Given the description of an element on the screen output the (x, y) to click on. 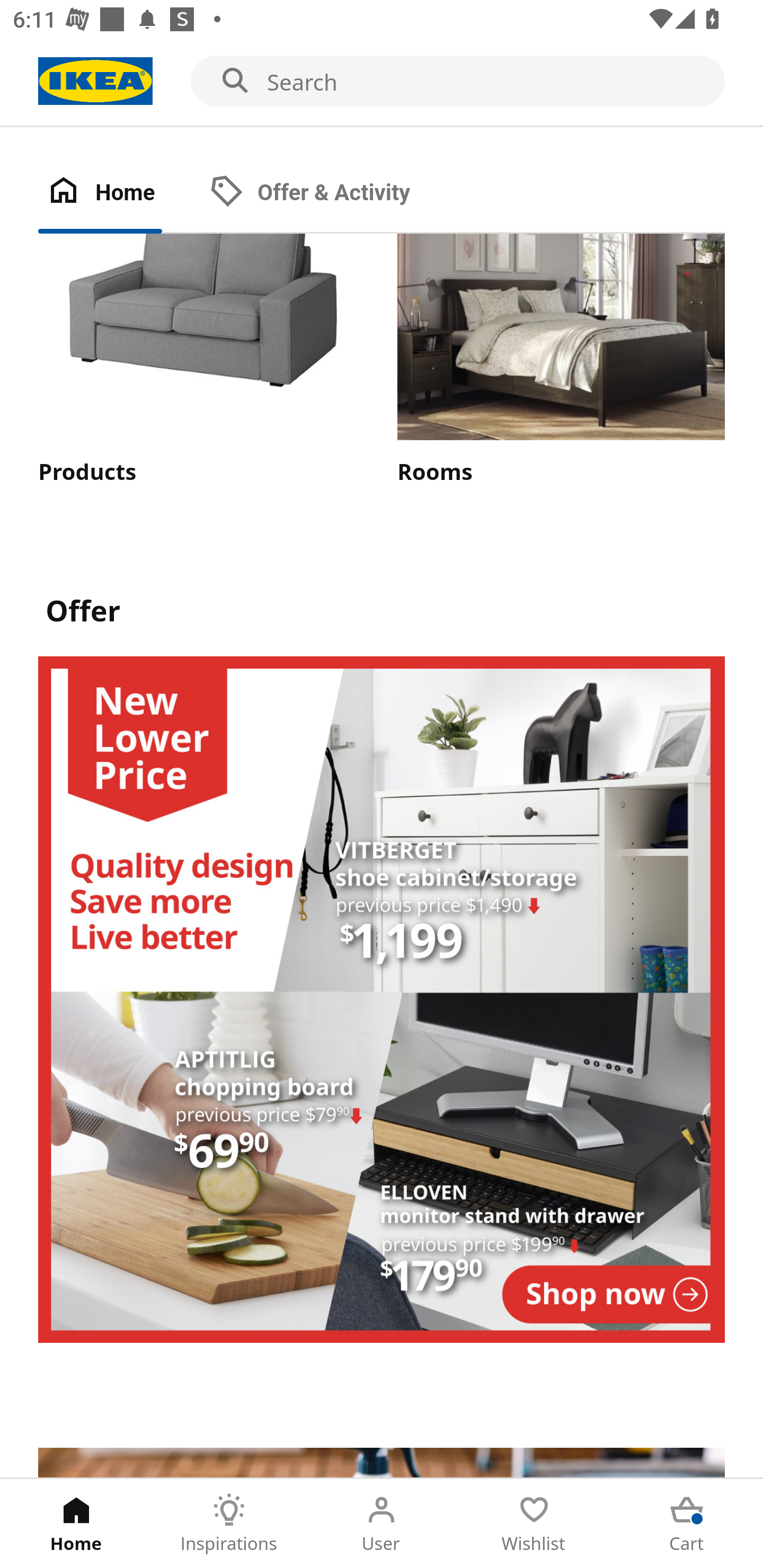
Search (381, 81)
Home
Tab 1 of 2 (118, 192)
Offer & Activity
Tab 2 of 2 (327, 192)
Products (201, 360)
Rooms (560, 360)
Home
Tab 1 of 5 (76, 1522)
Inspirations
Tab 2 of 5 (228, 1522)
User
Tab 3 of 5 (381, 1522)
Wishlist
Tab 4 of 5 (533, 1522)
Cart
Tab 5 of 5 (686, 1522)
